Given the description of an element on the screen output the (x, y) to click on. 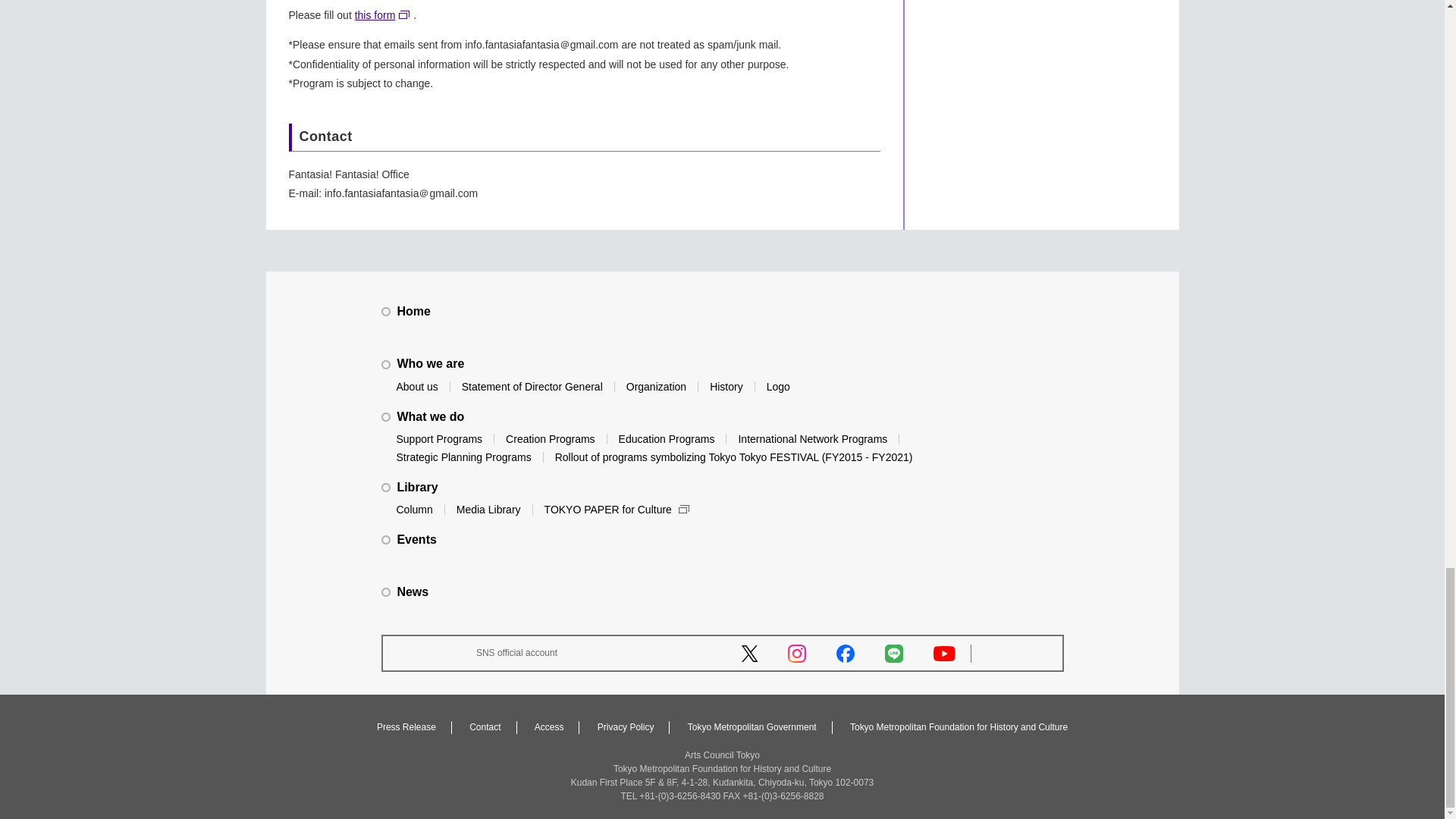
X (749, 653)
Facebook (844, 653)
LINE (893, 653)
Instagram (796, 653)
YouTube (944, 653)
